Given the description of an element on the screen output the (x, y) to click on. 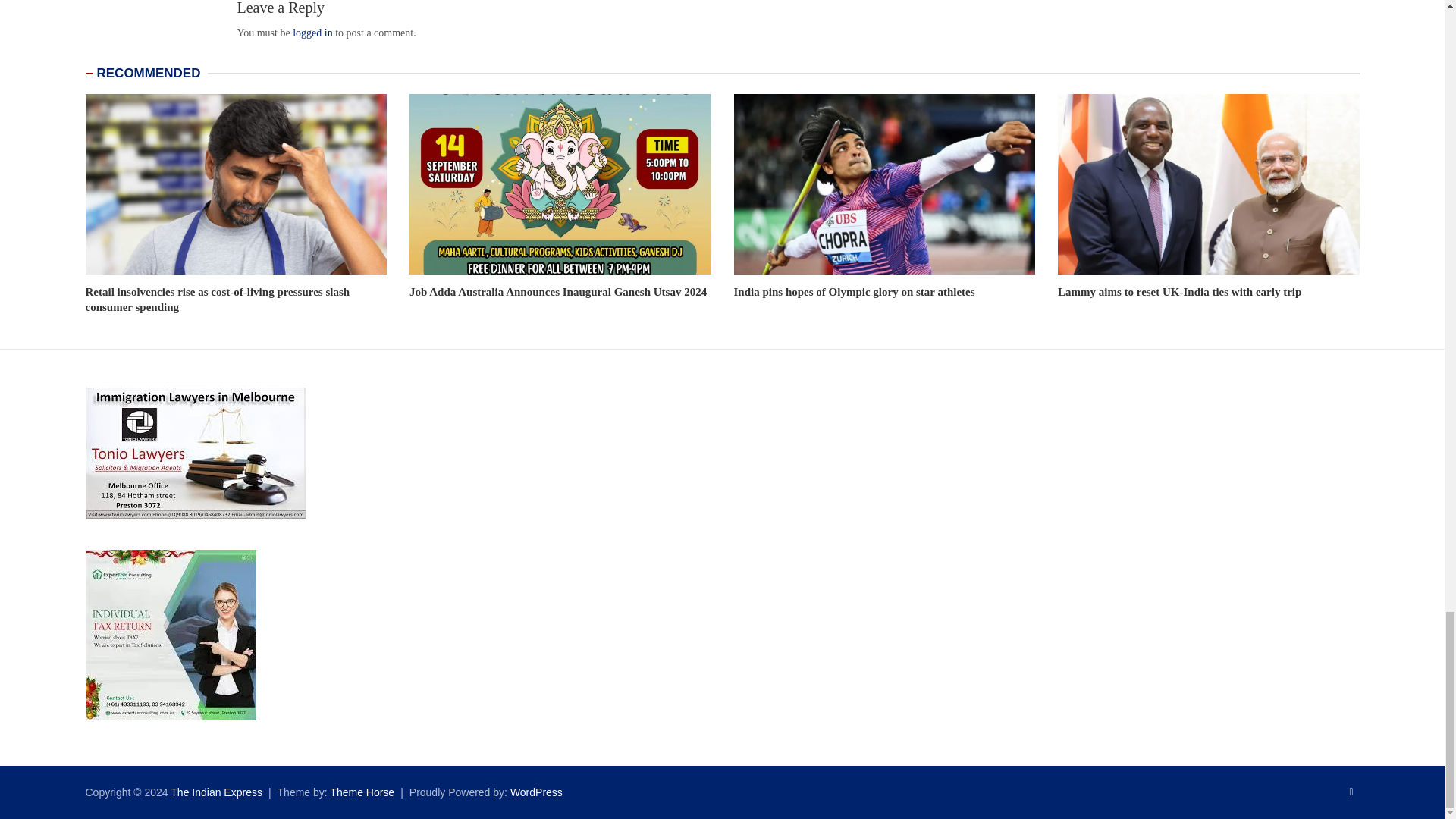
The Indian Express (216, 792)
WordPress (536, 792)
Theme Horse (362, 792)
